Given the description of an element on the screen output the (x, y) to click on. 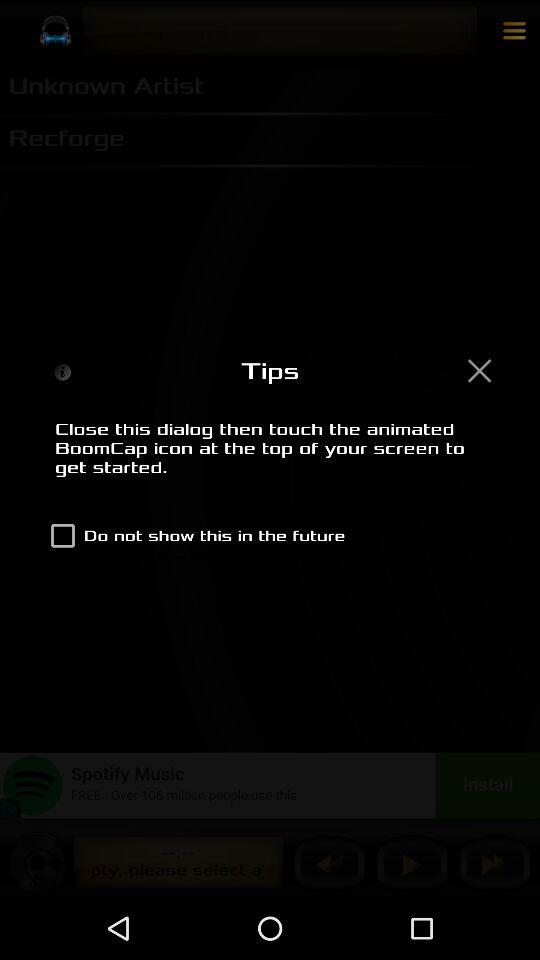
choose icon above the close this dialog (479, 370)
